Given the description of an element on the screen output the (x, y) to click on. 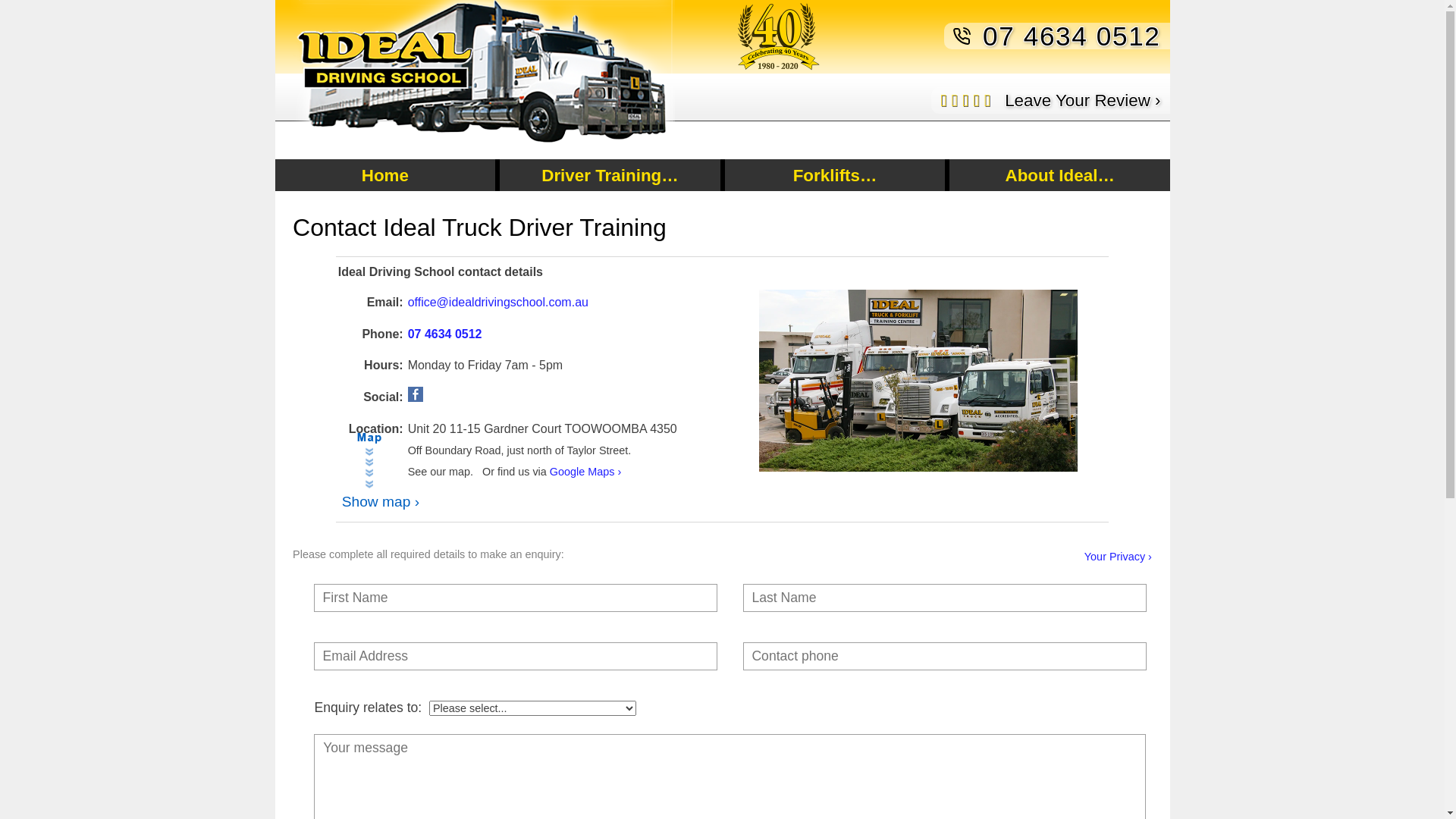
07 4634 0512 Element type: text (1071, 35)
07 4634 0512 Element type: text (444, 333)
Home Element type: text (385, 175)
office@idealdrivingschool.com.au Element type: text (497, 301)
Open the Ideal Driving School Facebook page Element type: hover (415, 393)
